Given the description of an element on the screen output the (x, y) to click on. 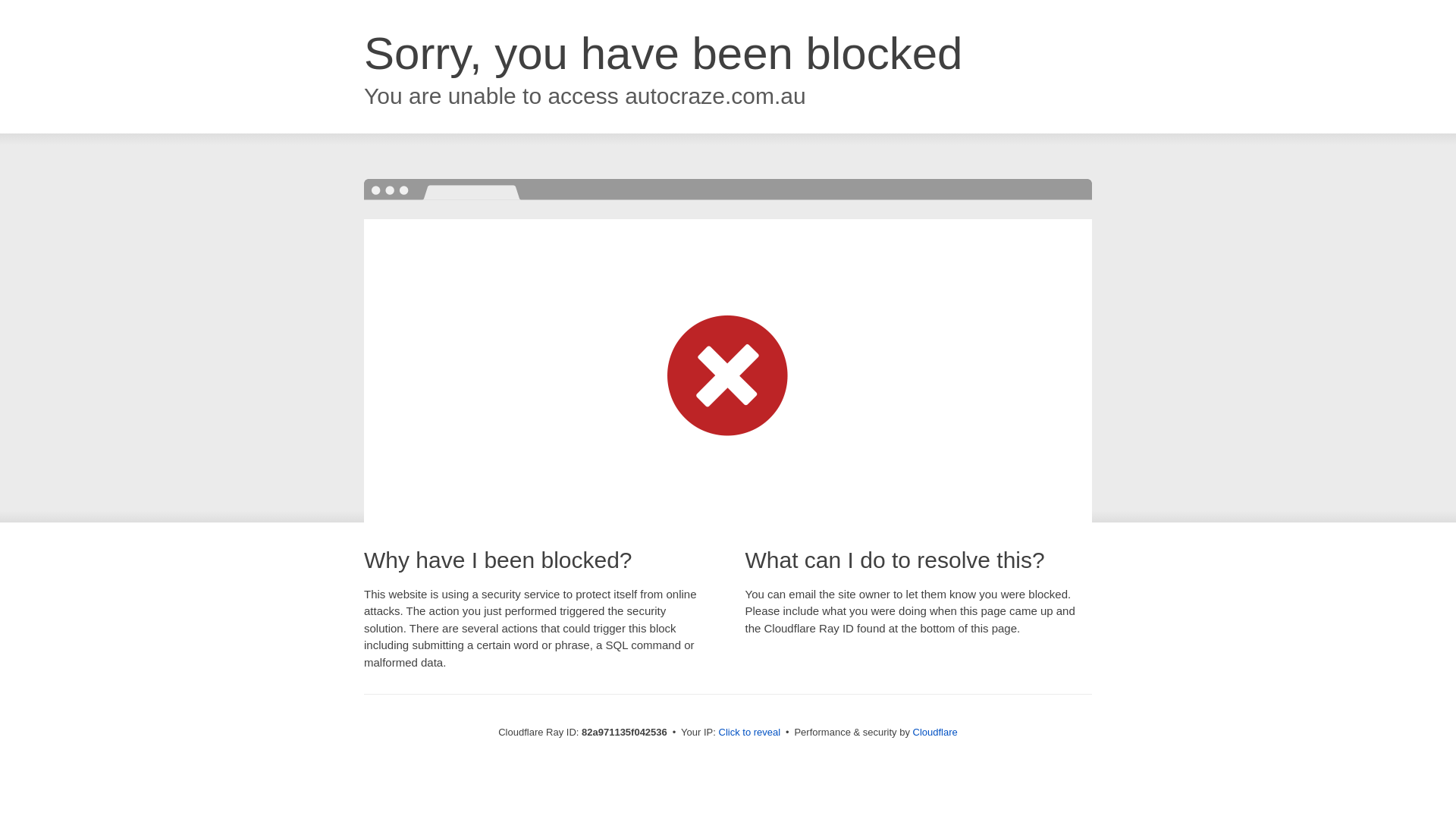
Cloudflare Element type: text (935, 731)
Click to reveal Element type: text (749, 732)
